Given the description of an element on the screen output the (x, y) to click on. 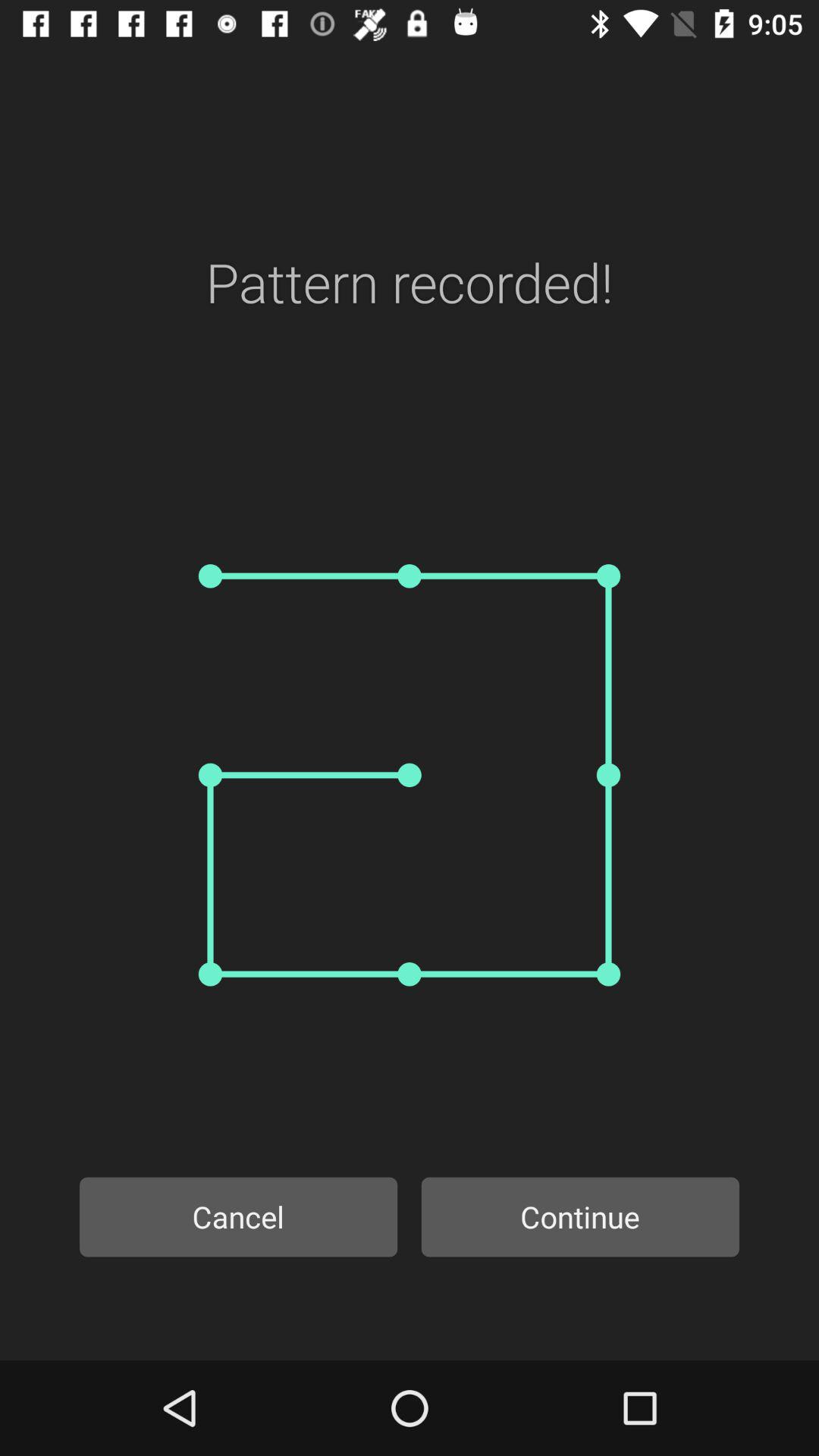
tap continue at the bottom right corner (580, 1216)
